Given the description of an element on the screen output the (x, y) to click on. 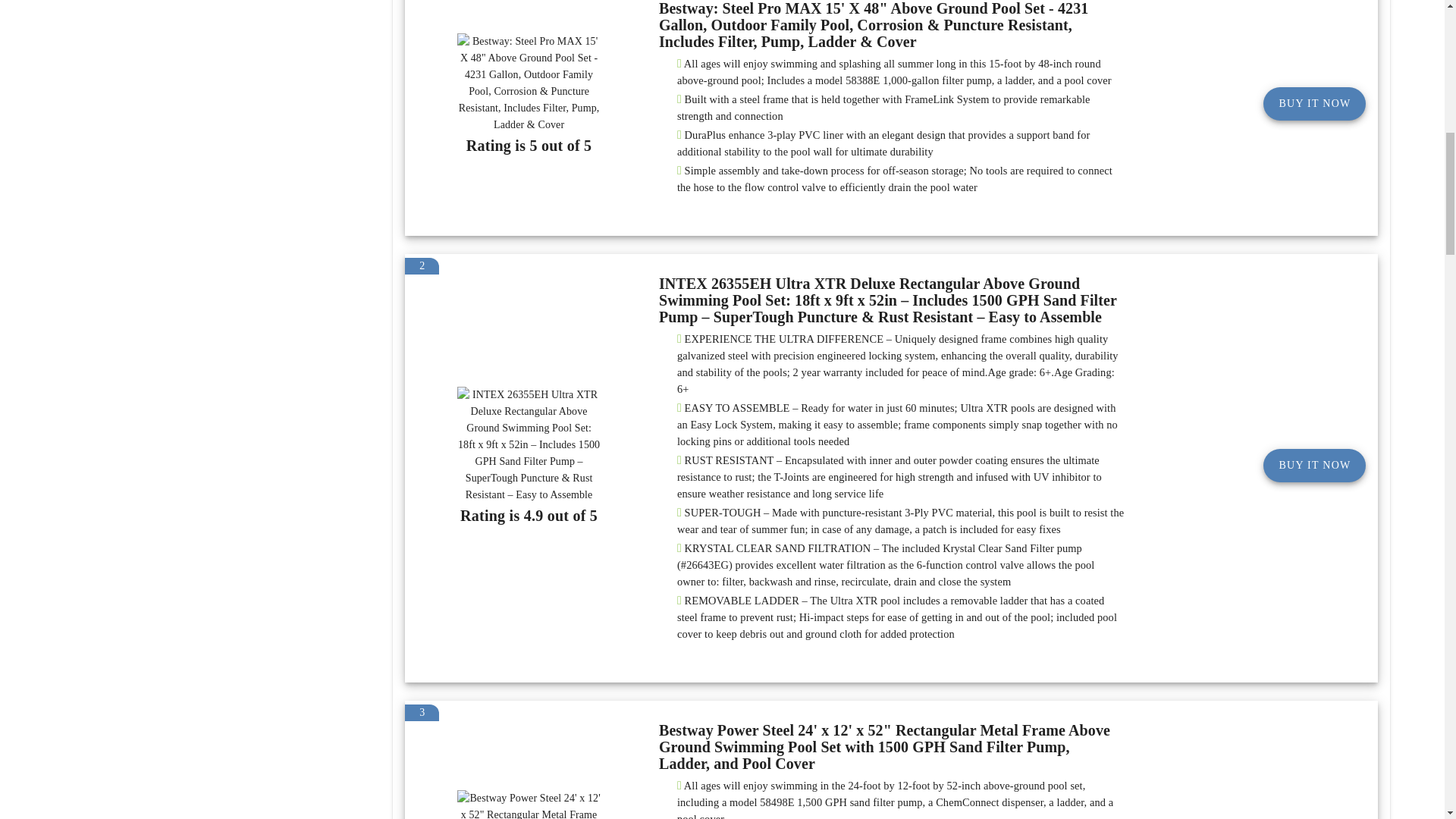
BUY IT NOW (1314, 465)
BUY IT NOW (1314, 103)
